Given the description of an element on the screen output the (x, y) to click on. 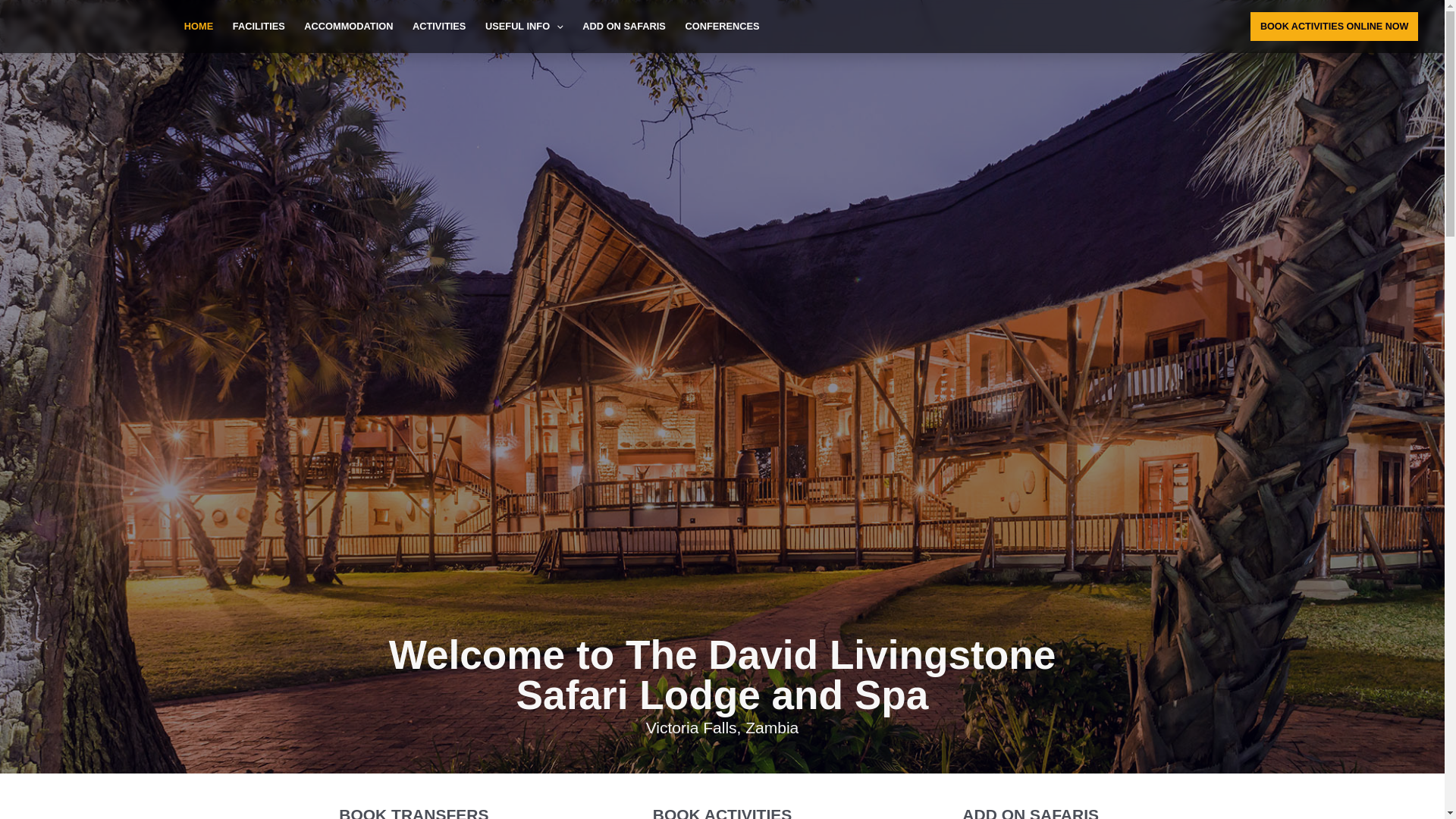
ACCOMMODATION (349, 26)
USEFUL INFO (524, 26)
CONFERENCES (722, 26)
ADD ON SAFARIS (624, 26)
HOME (198, 26)
FACILITIES (258, 26)
ACTIVITIES (439, 26)
BOOK ACTIVITIES ONLINE NOW (1334, 26)
